Given the description of an element on the screen output the (x, y) to click on. 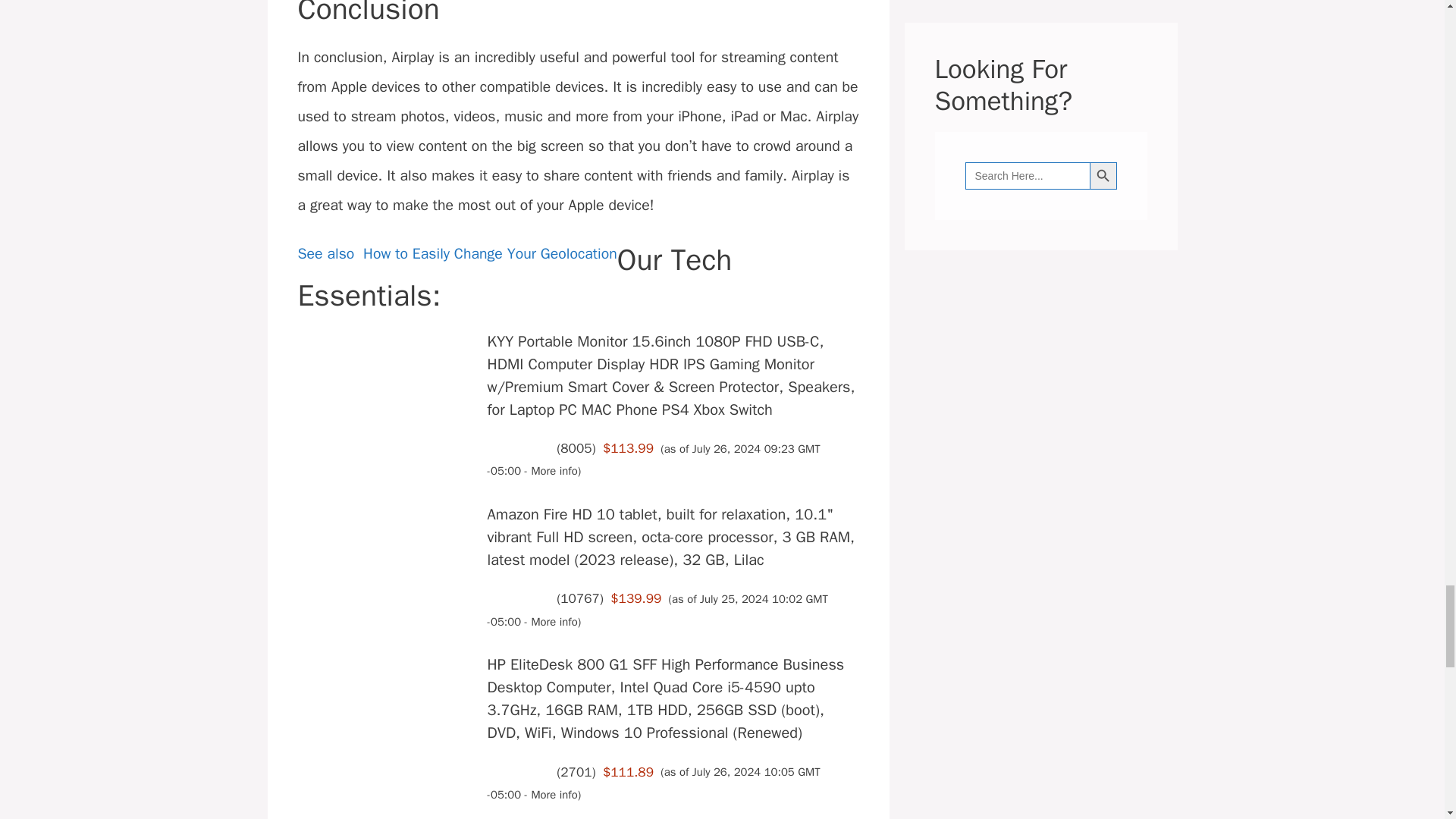
Amazon Fire HD 10 tablet, built for relaxation, 10.1 (671, 537)
How to Mirror iPhone XR to a Samsung TV Using AirPlay 4 (387, 353)
How to Mirror iPhone XR to a Samsung TV Using AirPlay 6 (387, 526)
